Given the description of an element on the screen output the (x, y) to click on. 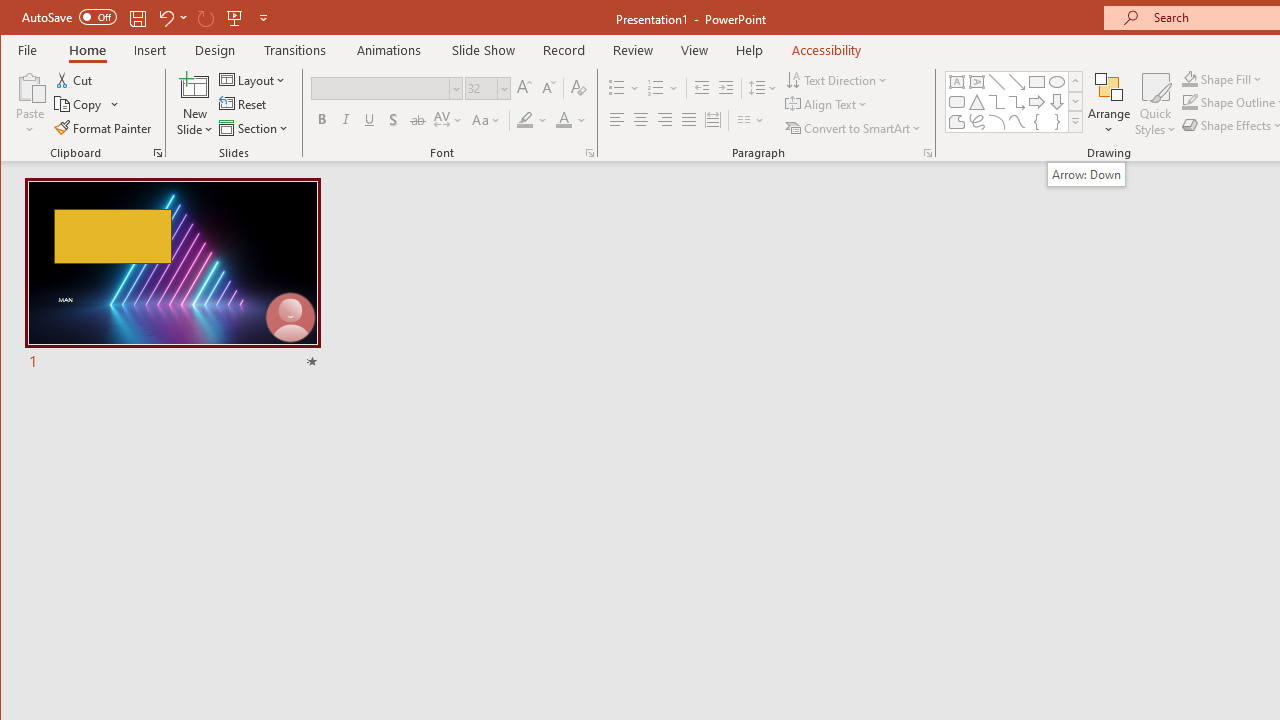
Text Direction (837, 80)
Strikethrough (417, 119)
Font... (589, 152)
Increase Font Size (524, 88)
Arrange (1108, 104)
